Given the description of an element on the screen output the (x, y) to click on. 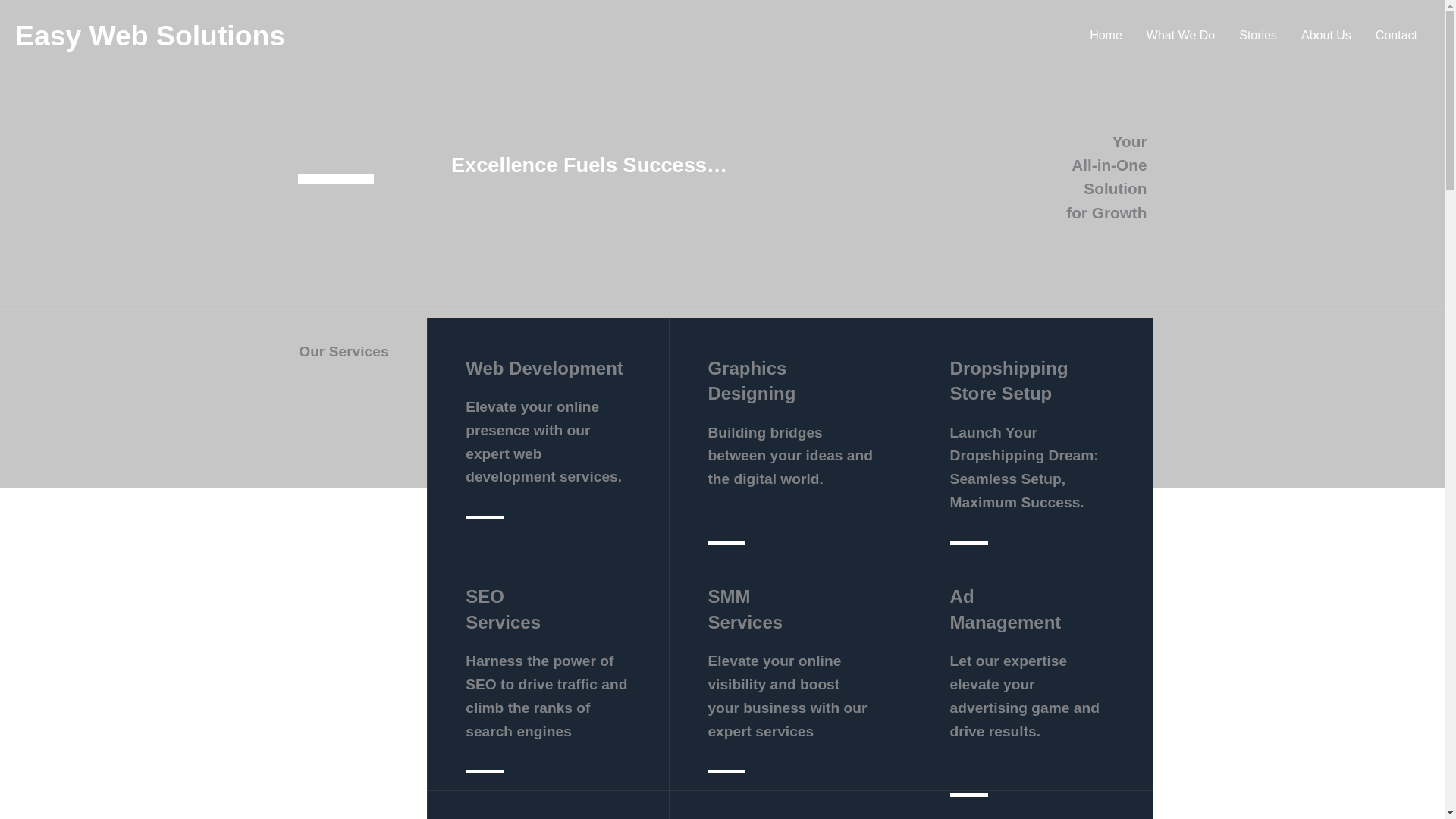
Easy Web Solutions (149, 35)
What We Do (1180, 35)
About Us (1325, 35)
Home (1105, 35)
Contact (1395, 35)
Stories (1257, 35)
